Given the description of an element on the screen output the (x, y) to click on. 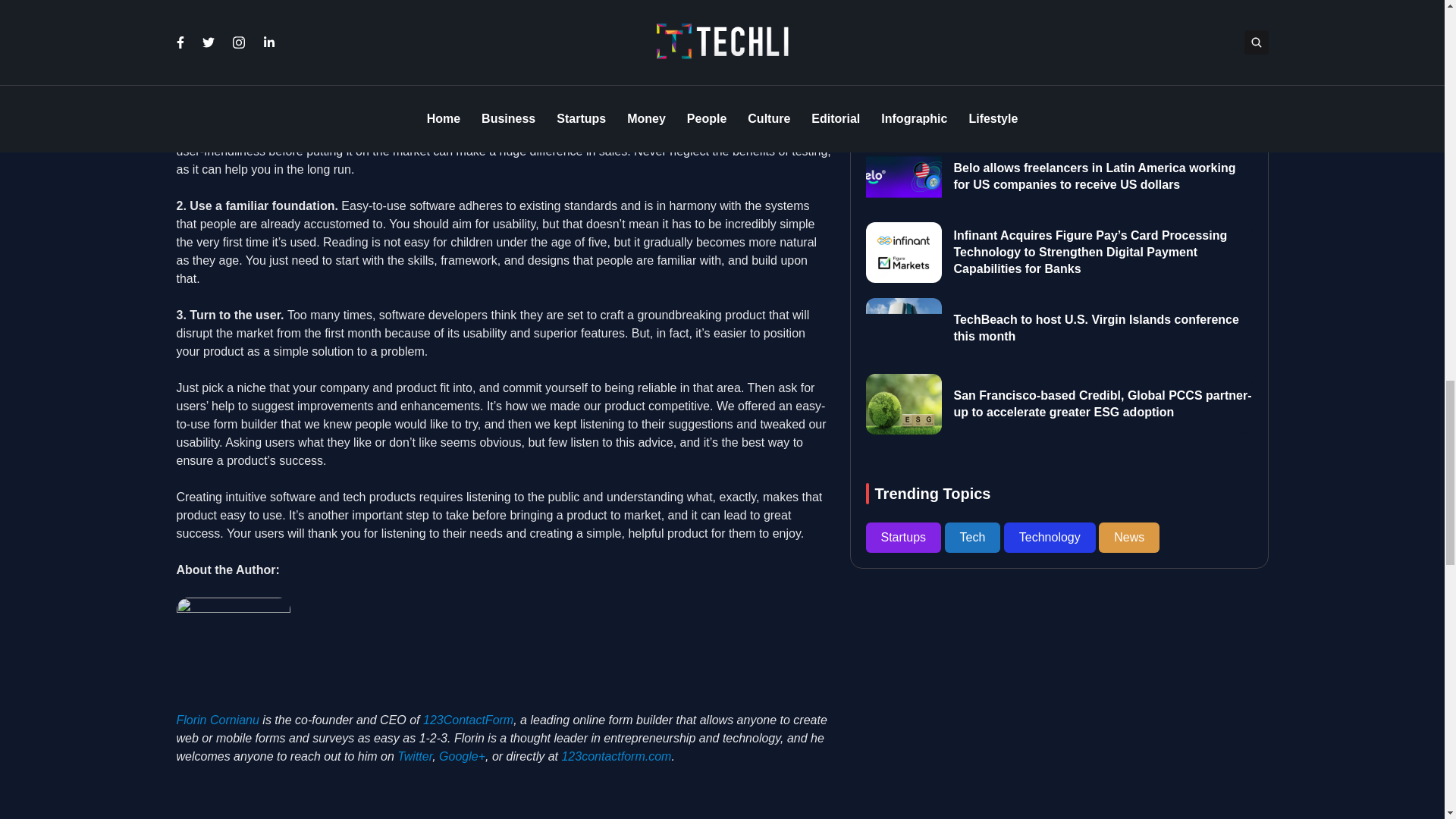
123contactform.com (615, 756)
Twitter (414, 756)
Florin Cornianu (217, 719)
123ContactForm (468, 719)
